Given the description of an element on the screen output the (x, y) to click on. 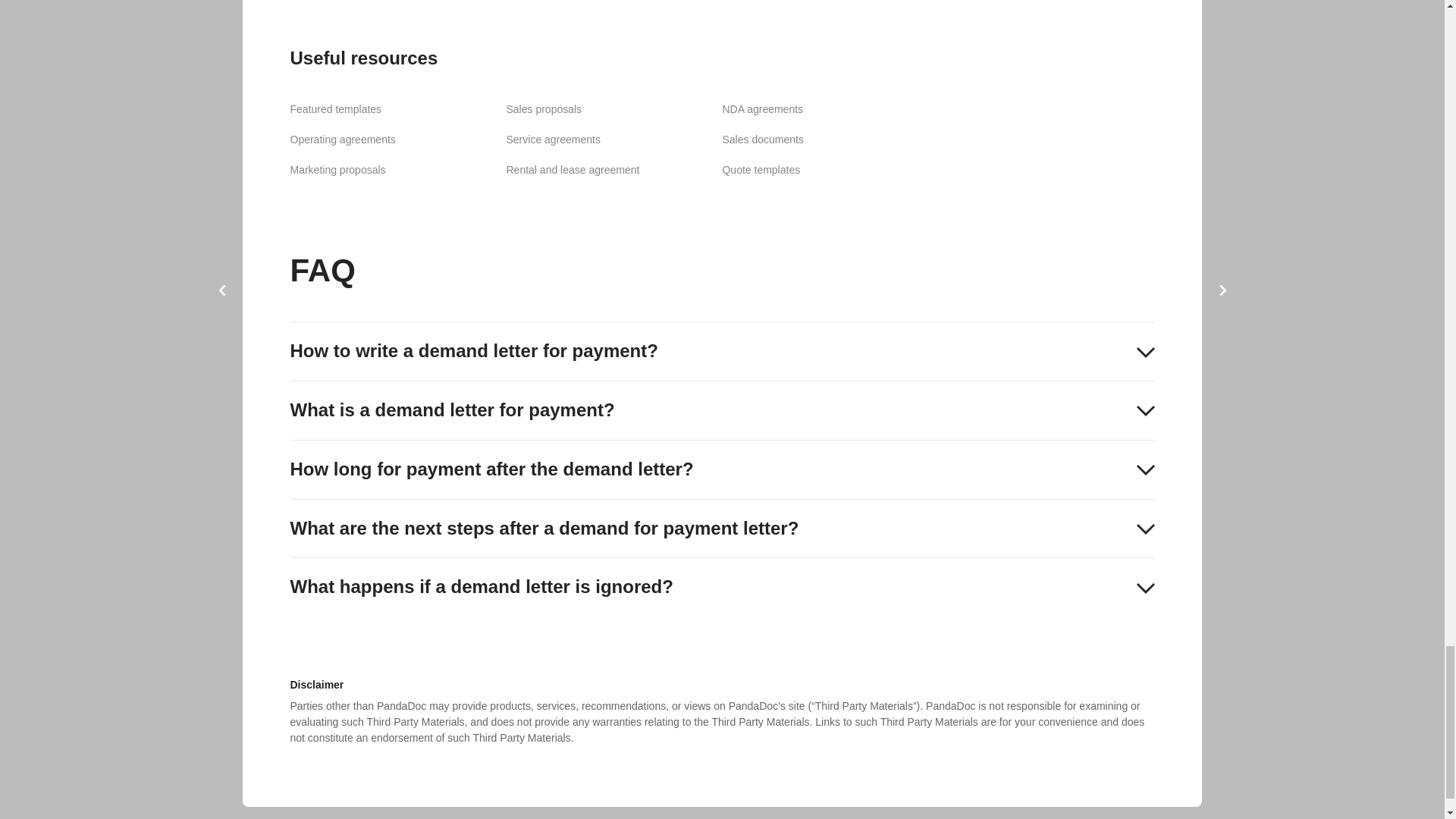
Service agreements (552, 139)
Sales documents (762, 139)
Featured templates (335, 109)
Marketing proposals (337, 169)
How long for payment after the demand letter? (721, 469)
How to write a demand letter for payment? (721, 351)
Rental and lease agreement (572, 169)
Quote templates (760, 169)
NDA agreements (762, 109)
What happens if a demand letter is ignored? (721, 587)
Sales proposals (542, 109)
Operating agreements (341, 139)
What is a demand letter for payment? (721, 410)
What are the next steps after a demand for payment letter? (721, 528)
